Given the description of an element on the screen output the (x, y) to click on. 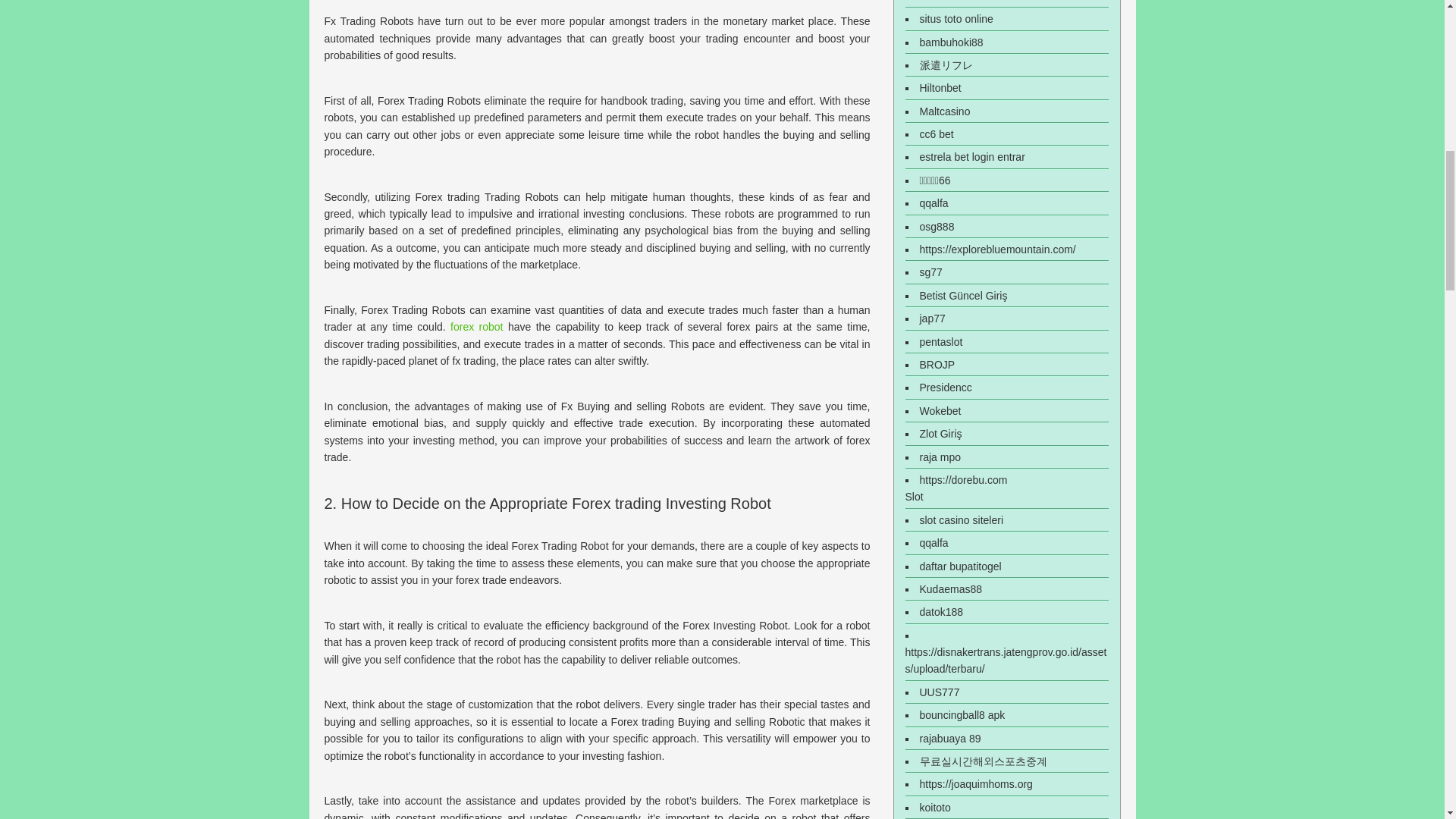
olx toto (935, 1)
jap77 (931, 318)
osg888 (935, 226)
cc6 bet (935, 133)
estrela bet login entrar (971, 156)
BROJP (936, 364)
Maltcasino (943, 111)
Hiltonbet (939, 87)
qqalfa (932, 203)
situs toto online (955, 19)
